Given the description of an element on the screen output the (x, y) to click on. 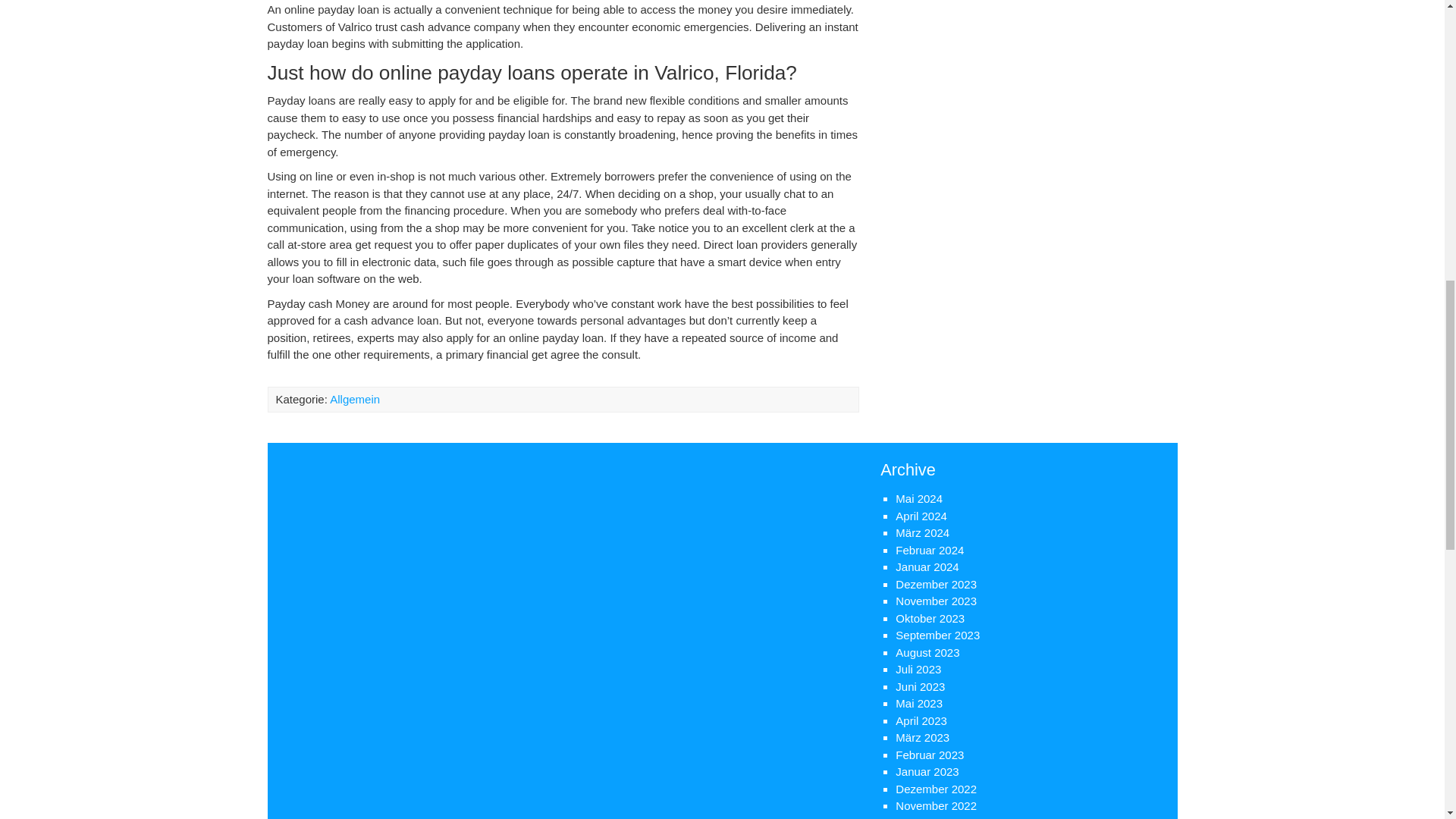
Juli 2023 (917, 668)
Oktober 2023 (929, 617)
August 2023 (927, 652)
Februar 2024 (929, 549)
Mai 2024 (918, 498)
April 2024 (921, 515)
September 2023 (937, 634)
November 2023 (935, 600)
Dezember 2022 (935, 788)
Januar 2024 (926, 566)
April 2023 (921, 720)
Dezember 2023 (935, 584)
Allgemein (355, 399)
Februar 2023 (929, 753)
Januar 2023 (926, 771)
